Given the description of an element on the screen output the (x, y) to click on. 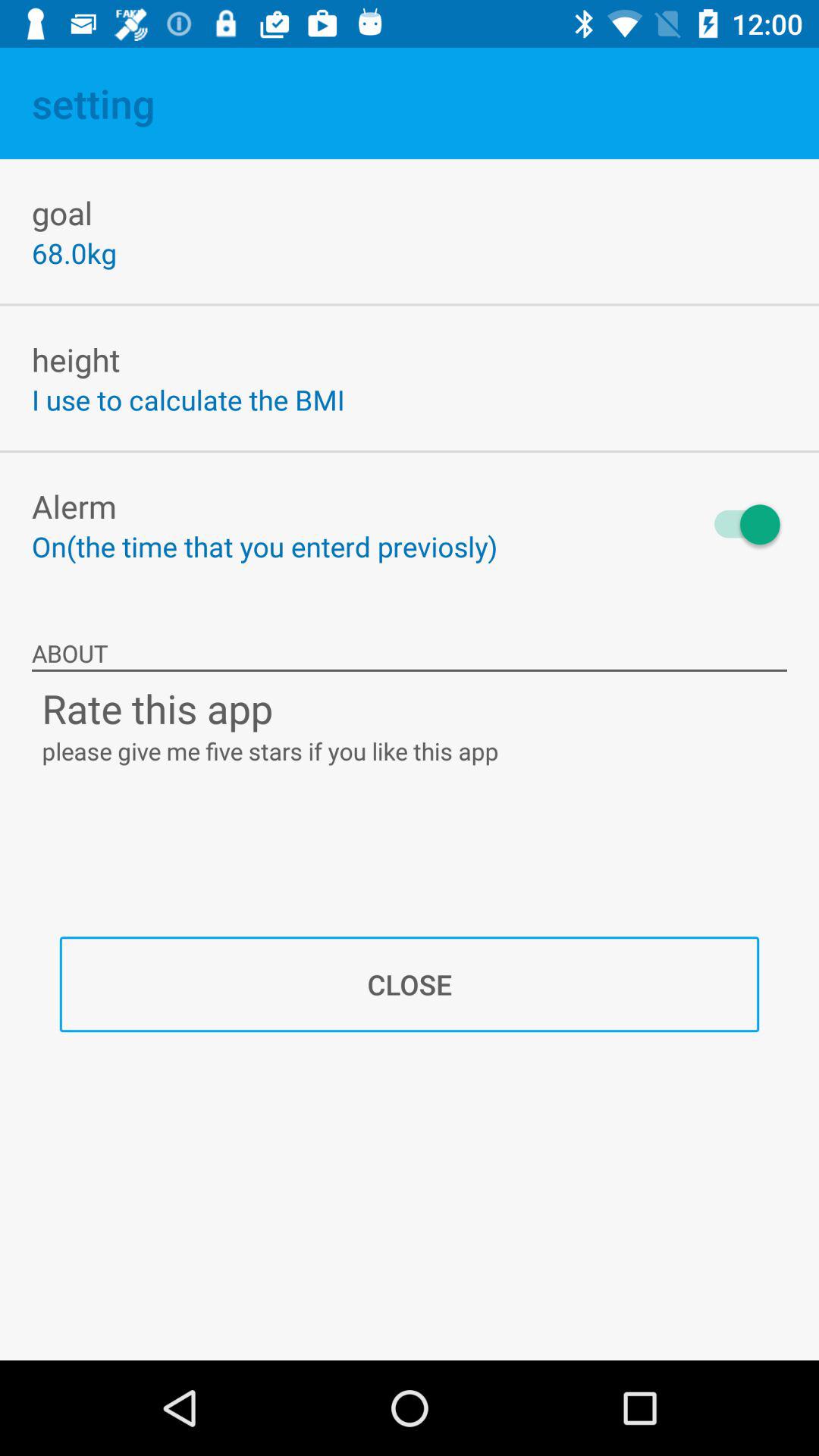
select height icon (75, 359)
